Given the description of an element on the screen output the (x, y) to click on. 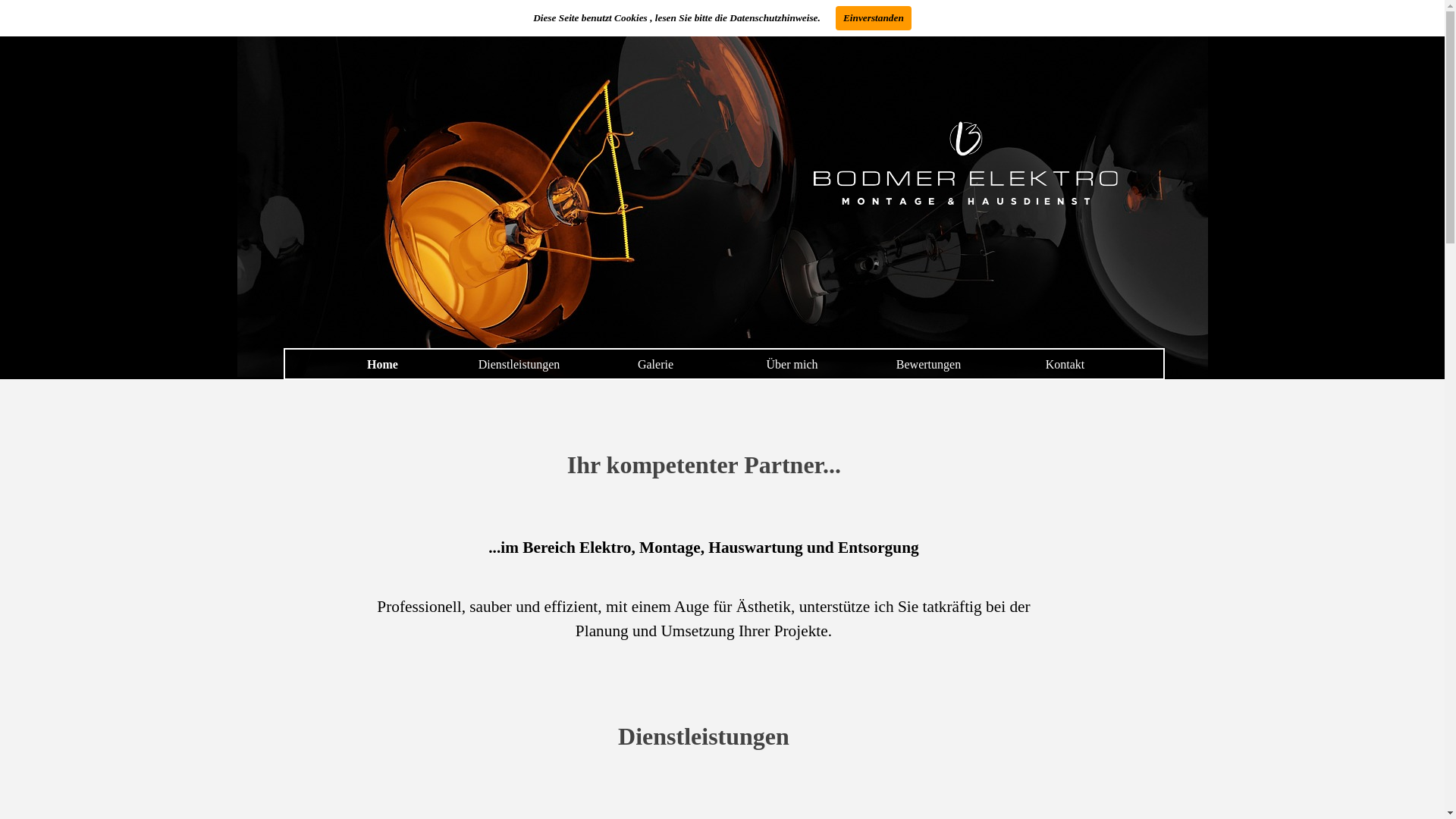
Bewertungen Element type: text (928, 364)
Home Element type: text (382, 364)
Kontakt Element type: text (1065, 364)
